Given the description of an element on the screen output the (x, y) to click on. 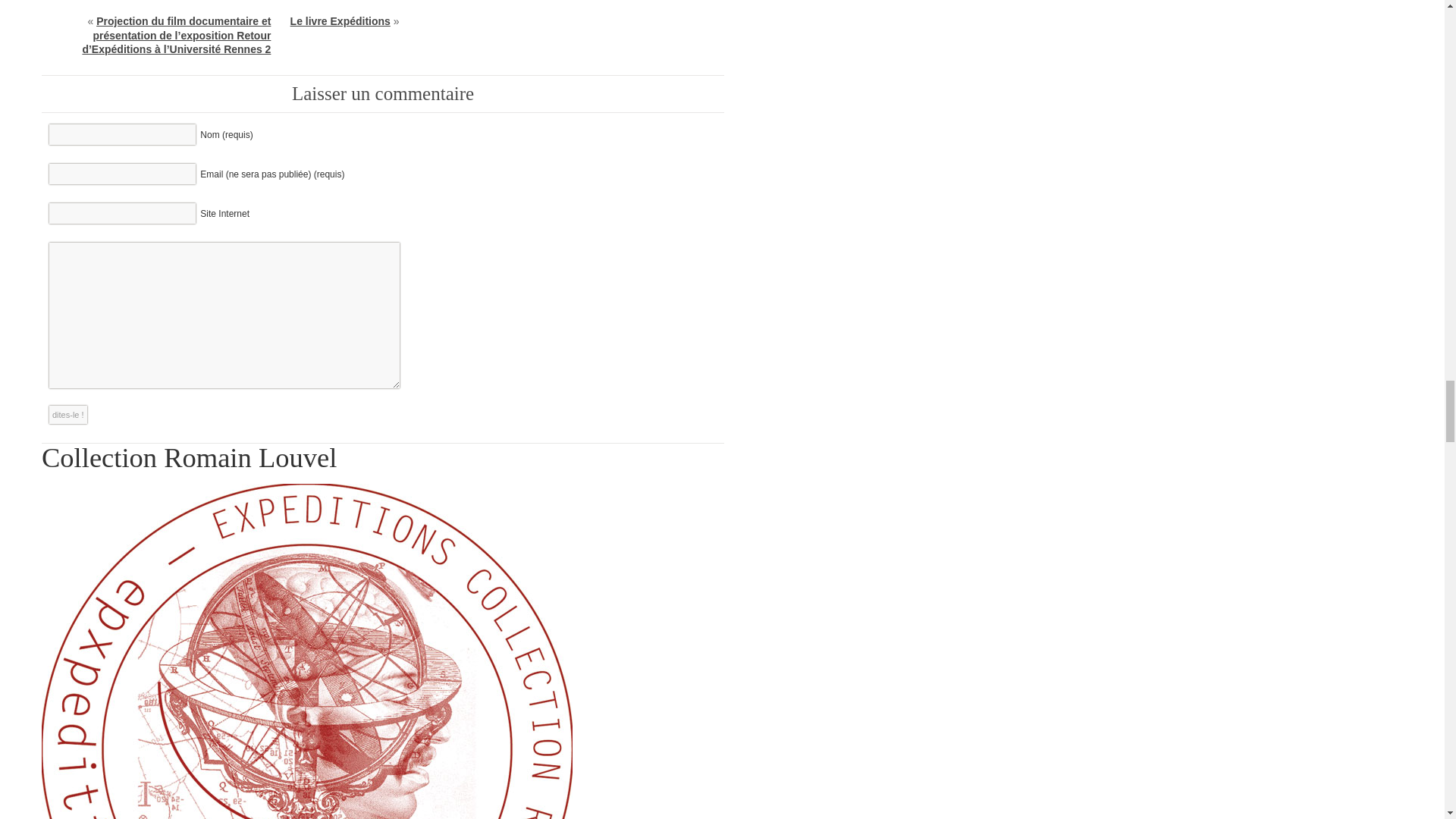
dites-le ! (68, 414)
